Given the description of an element on the screen output the (x, y) to click on. 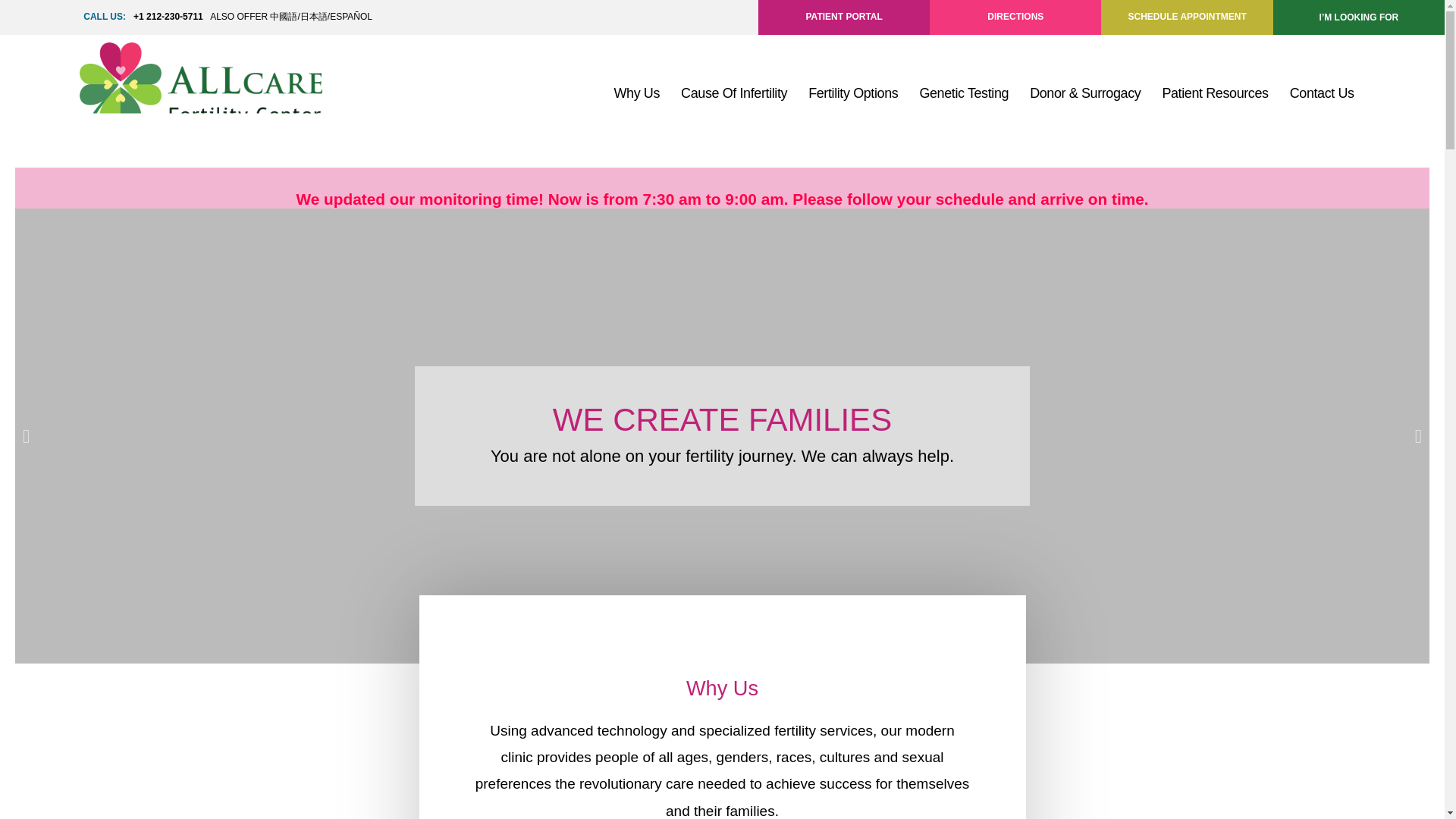
Fertility Options (852, 92)
Cause Of Infertility (733, 92)
Genetic Testing (963, 92)
PATIENT PORTAL (843, 16)
Patient Resources (1214, 92)
SCHEDULE APPOINTMENT (1187, 16)
DIRECTIONS (1015, 16)
Why Us (635, 92)
